Given the description of an element on the screen output the (x, y) to click on. 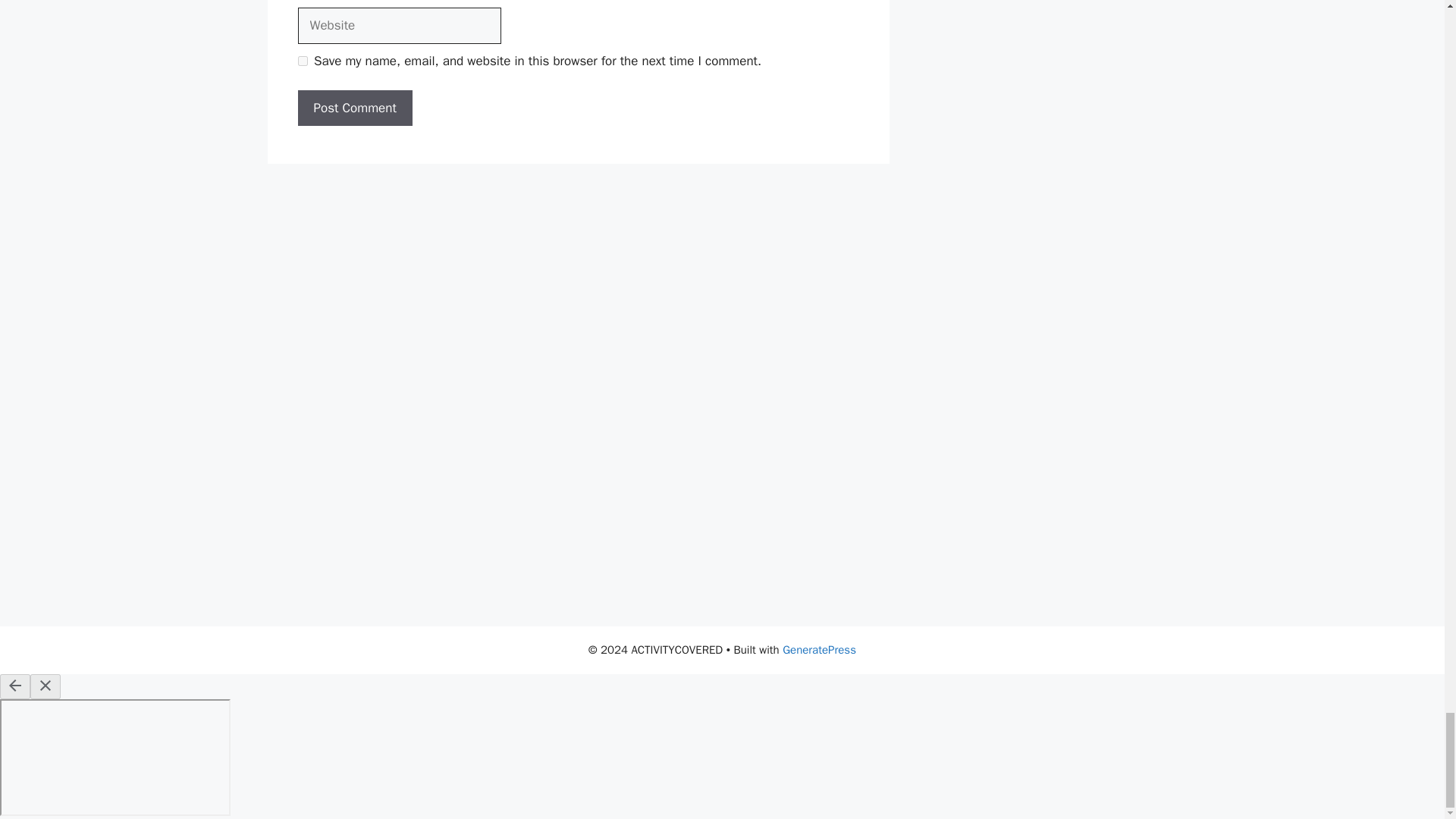
yes (302, 61)
Post Comment (354, 108)
Post Comment (354, 108)
